Given the description of an element on the screen output the (x, y) to click on. 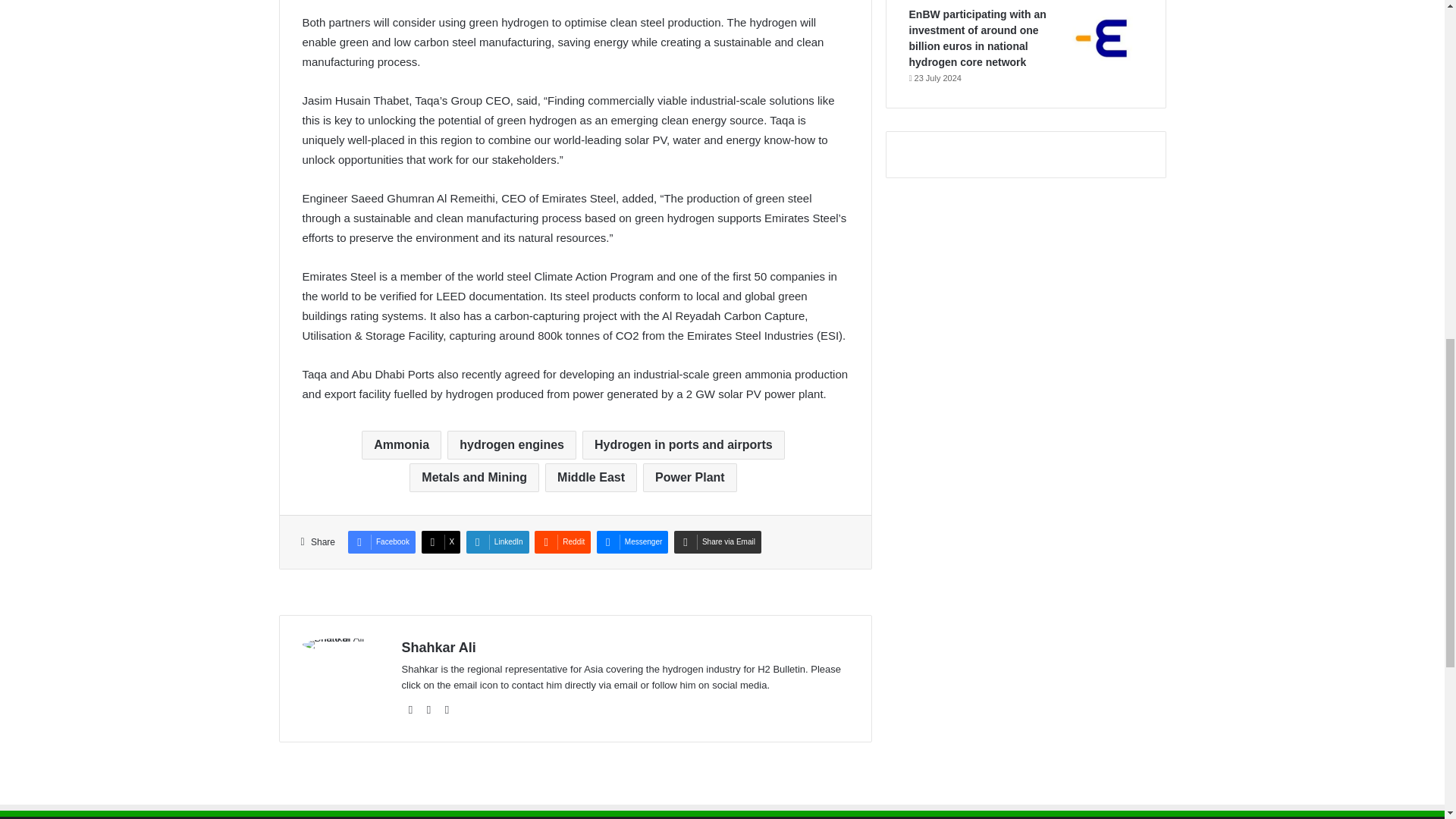
Power Plant (689, 477)
X (441, 541)
Metals and Mining (473, 477)
Reddit (562, 541)
Share via Email (717, 541)
LinkedIn (497, 541)
Ammonia (401, 444)
Shahkar Ali (438, 647)
Middle East (590, 477)
Messenger (632, 541)
